Given the description of an element on the screen output the (x, y) to click on. 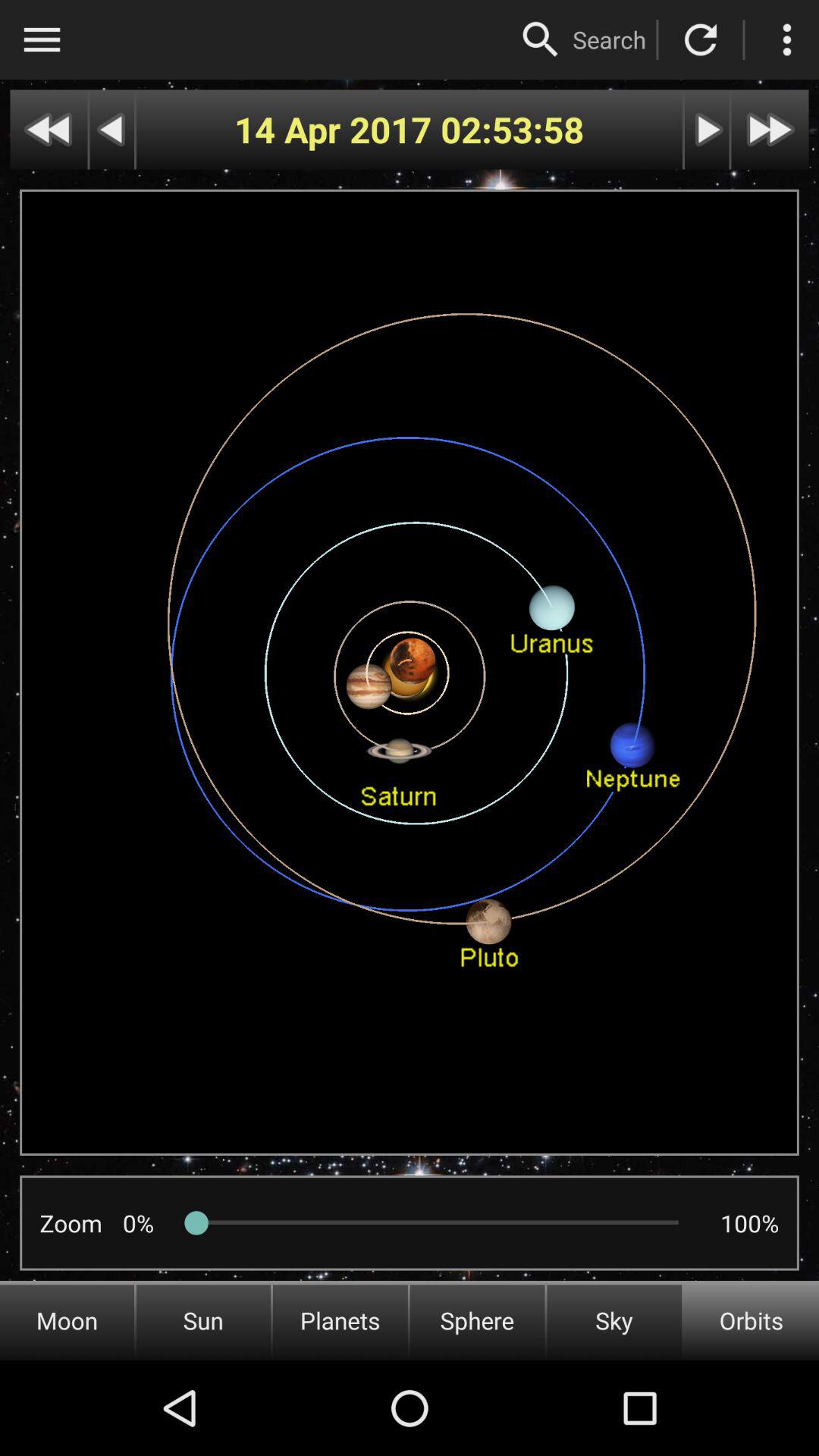
choose search icon (609, 39)
